Given the description of an element on the screen output the (x, y) to click on. 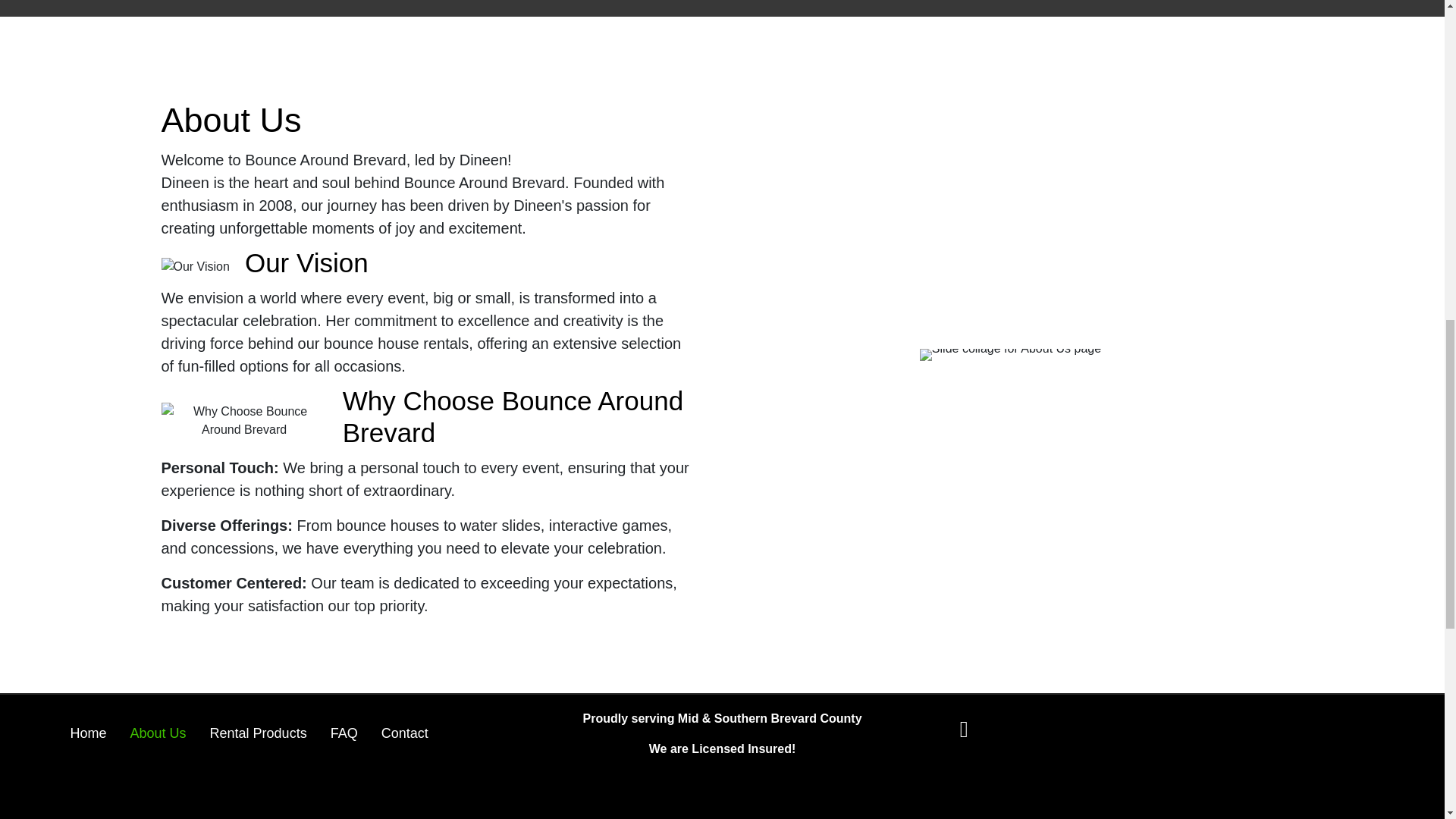
About Us (158, 732)
Home (88, 732)
FAQ (343, 732)
Rental Products (258, 732)
Slide collage for About Us page (1010, 354)
Contact (404, 732)
